Given the description of an element on the screen output the (x, y) to click on. 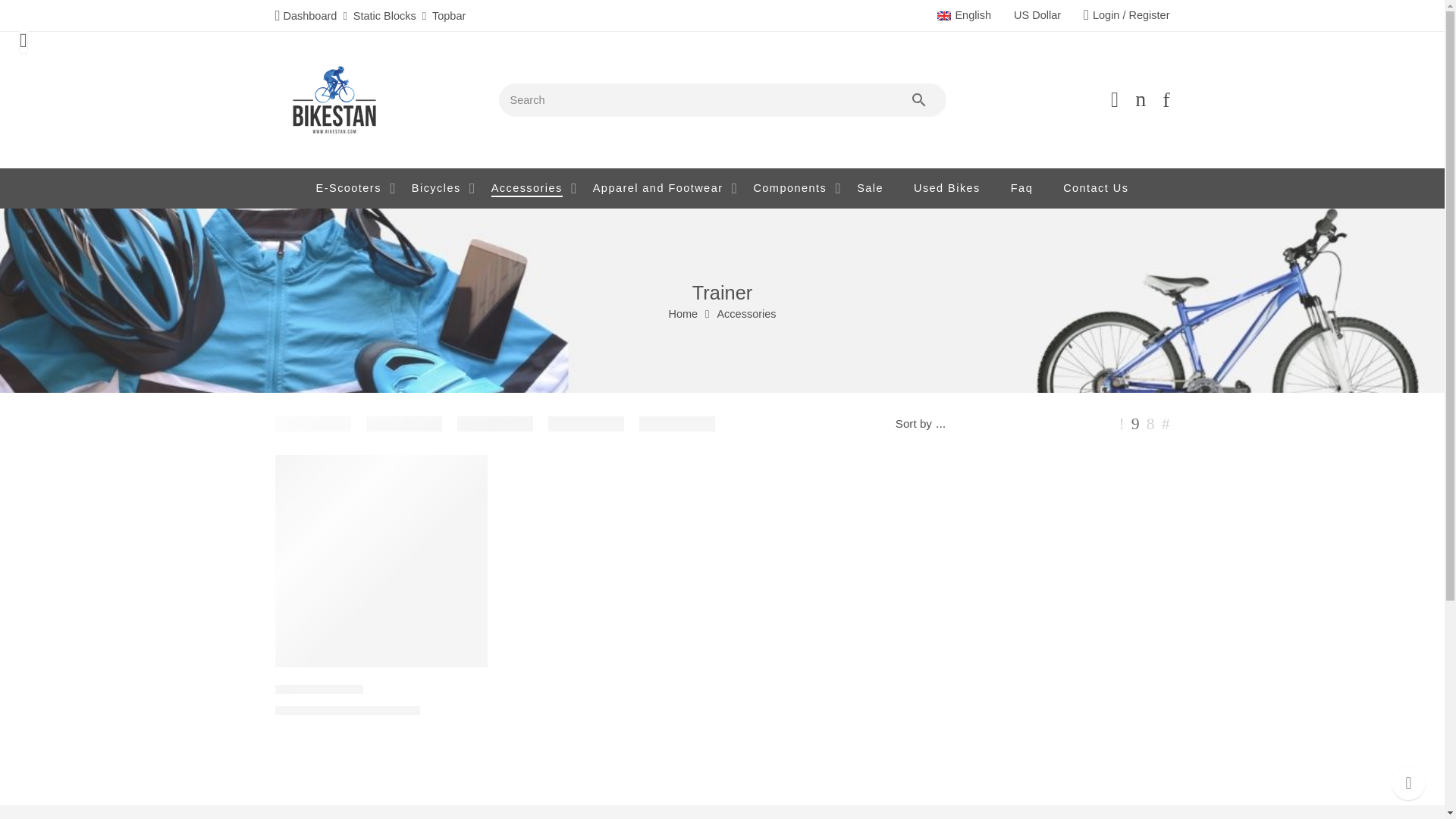
Bikestan -  (336, 99)
E-Scooters (348, 188)
US Dollar (1037, 15)
English (964, 15)
Bicycles (436, 188)
Cart (1140, 99)
Accessories (527, 188)
English (964, 15)
Requires package of WPML (1037, 15)
E-Scooters (348, 188)
